Given the description of an element on the screen output the (x, y) to click on. 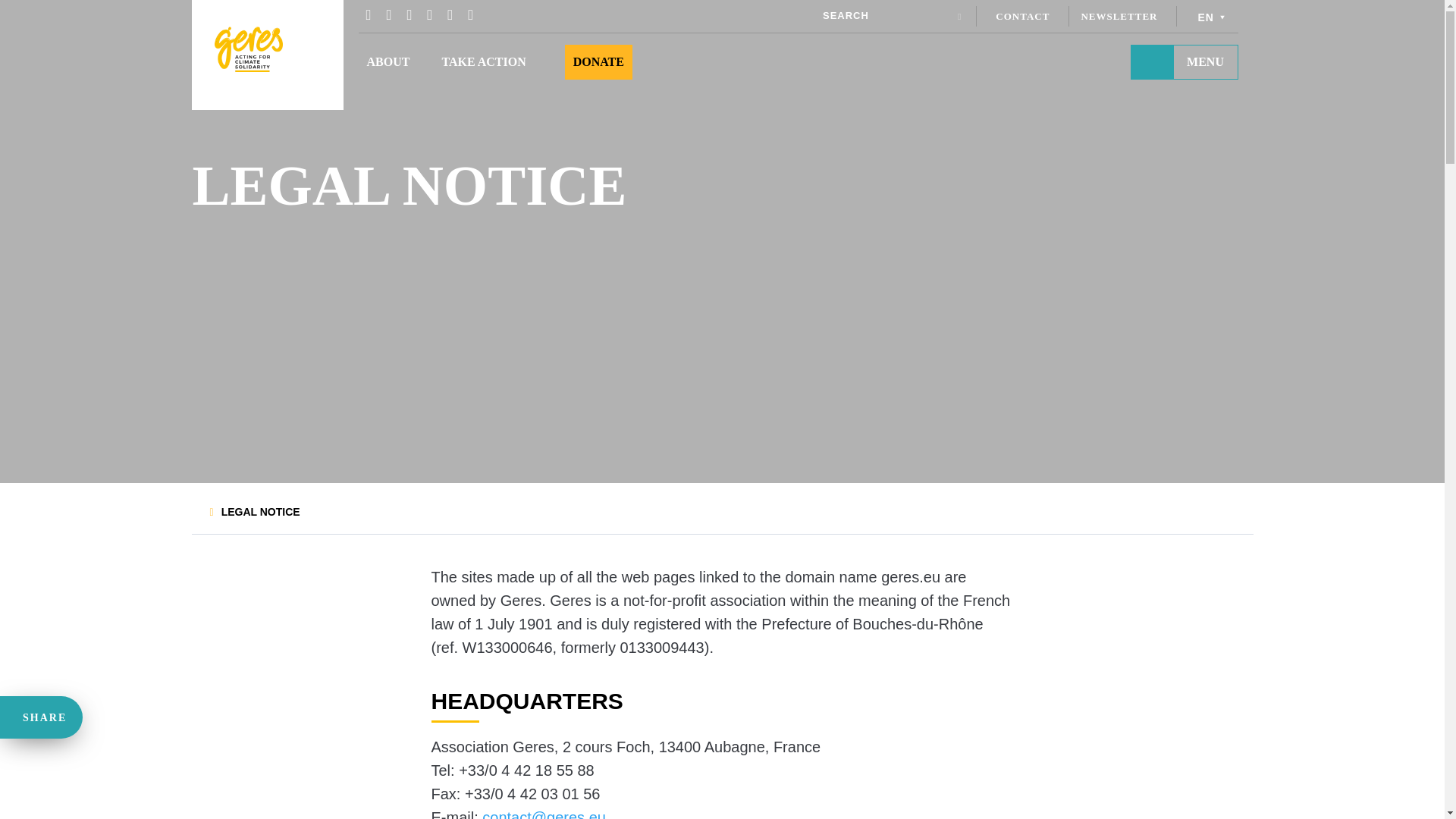
Search for: (886, 15)
NEWSLETTER (1118, 16)
TAKE ACTION (483, 60)
CONTACT (1022, 16)
EN (1212, 15)
DONATE (598, 60)
SHARE (39, 716)
ABOUT (388, 60)
